Given the description of an element on the screen output the (x, y) to click on. 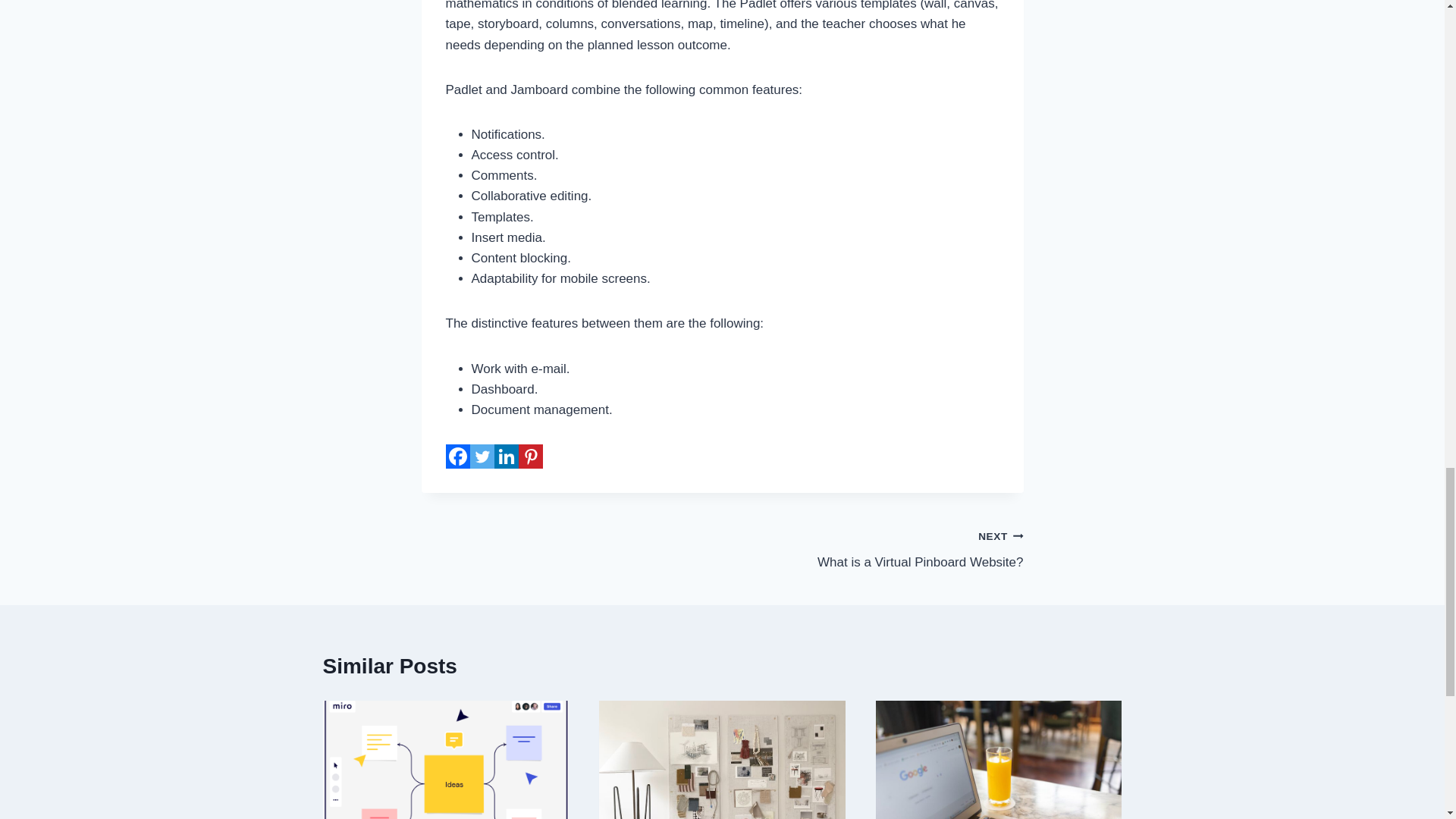
Linkedin (506, 456)
Twitter (482, 456)
Pinterest (872, 549)
Facebook (530, 456)
